Given the description of an element on the screen output the (x, y) to click on. 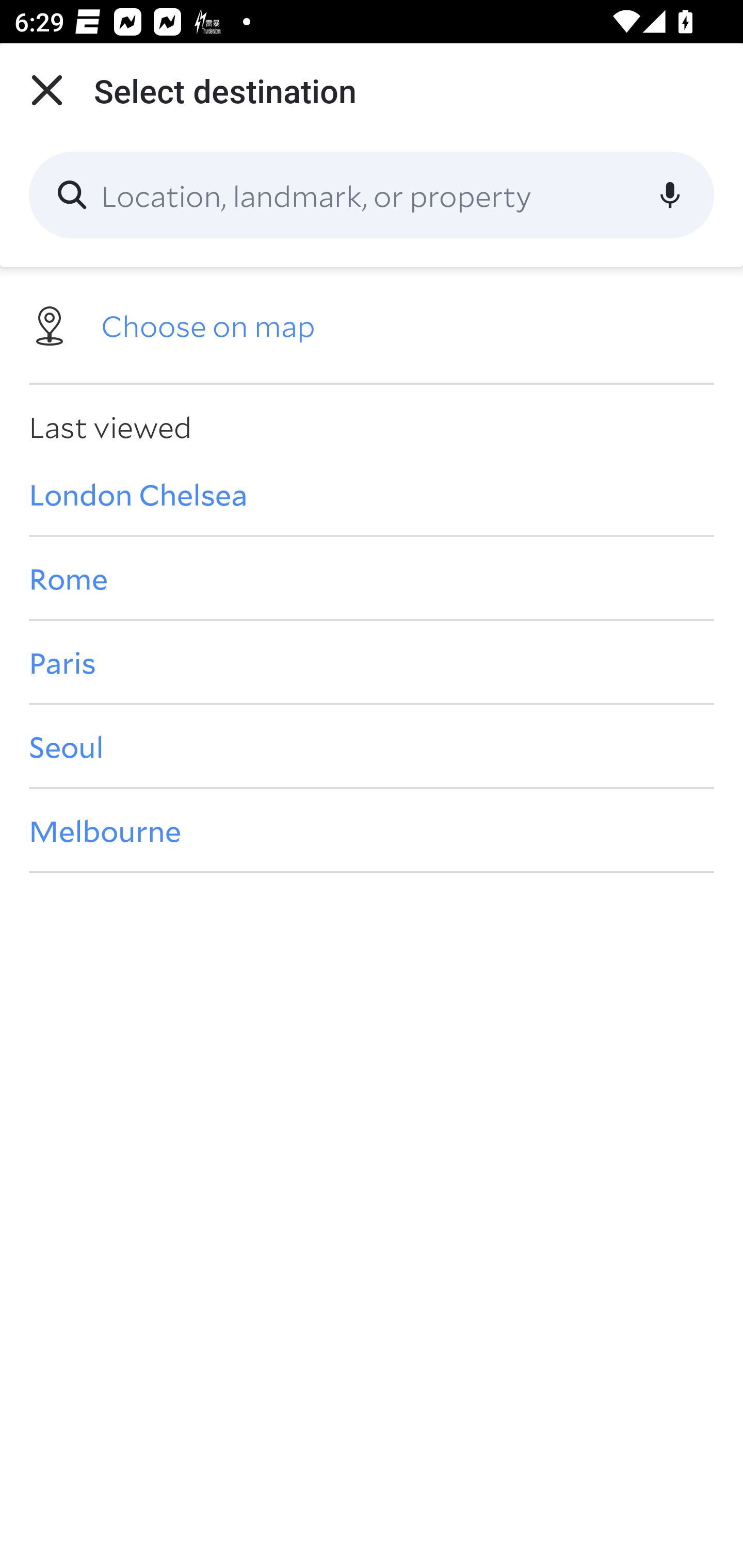
Location, landmark, or property (371, 195)
Choose on map (371, 324)
London Chelsea (371, 493)
Rome (371, 577)
Paris (371, 661)
Seoul (371, 746)
Melbourne (371, 829)
